Given the description of an element on the screen output the (x, y) to click on. 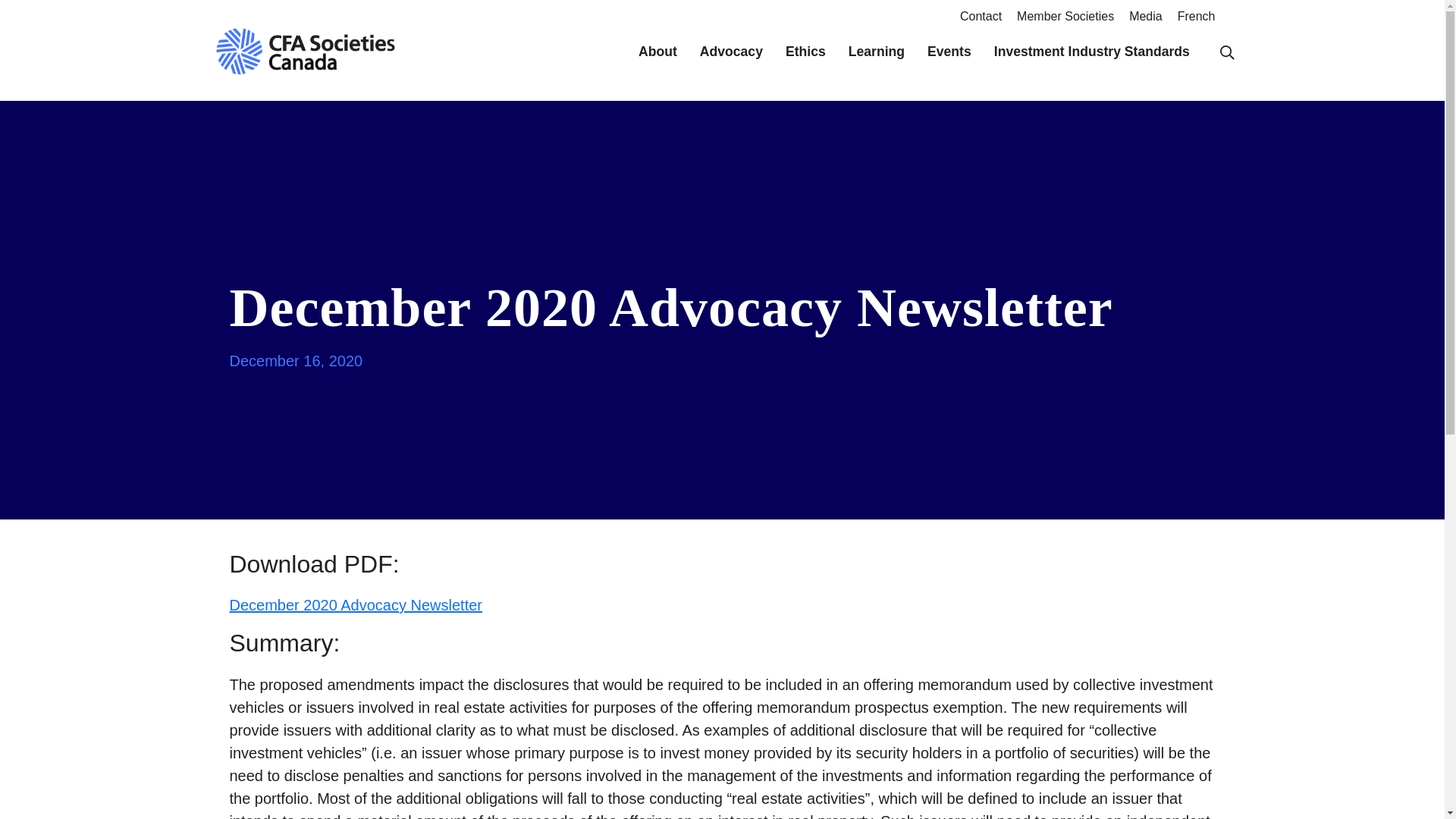
Member Societies (1064, 16)
French (1196, 16)
Learning (876, 51)
Ethics (805, 51)
Contact (980, 16)
Advocacy (731, 51)
Investment Industry Standards (1091, 51)
About (658, 51)
Media (1145, 16)
Events (949, 51)
